Given the description of an element on the screen output the (x, y) to click on. 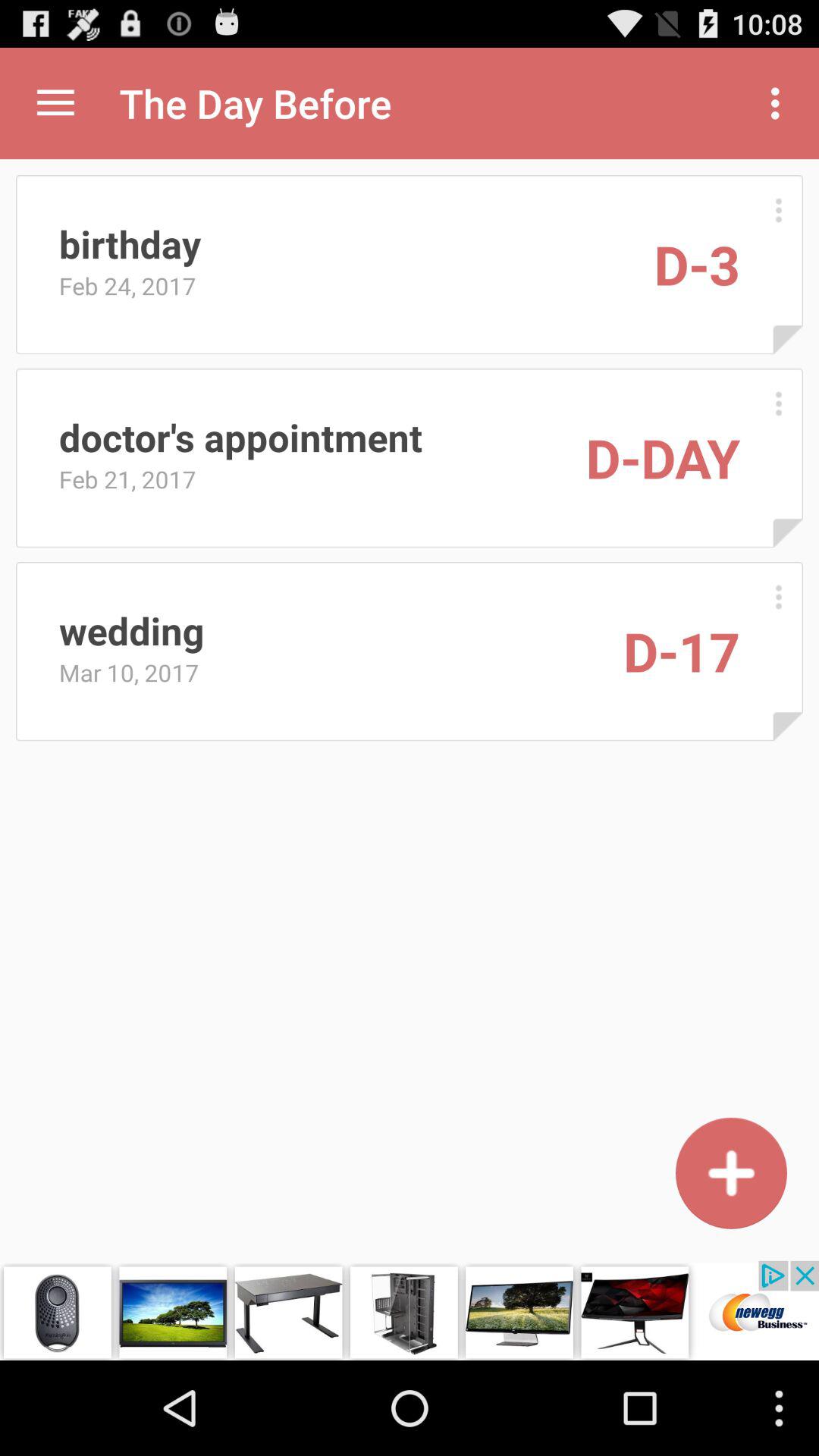
add another event (731, 1173)
